Given the description of an element on the screen output the (x, y) to click on. 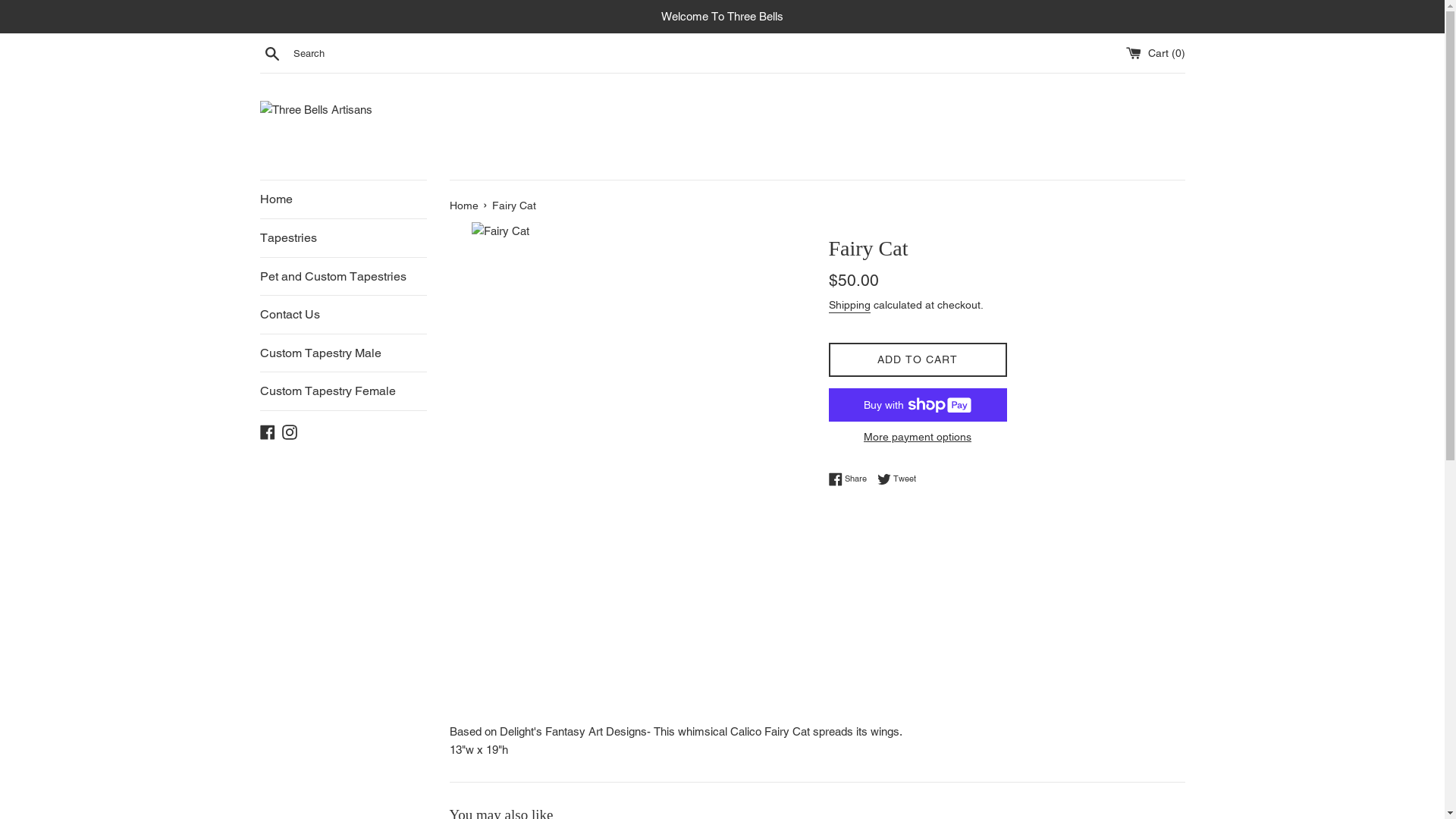
ADD TO CART Element type: text (917, 359)
Contact Us Element type: text (342, 314)
Tapestries Element type: text (342, 238)
Shipping Element type: text (848, 305)
Facebook Element type: text (266, 430)
Share
Share on Facebook Element type: text (850, 479)
Search Element type: text (271, 52)
Cart (0) Element type: text (1154, 53)
Home Element type: text (342, 199)
Pet and Custom Tapestries Element type: text (342, 276)
Custom Tapestry Male Element type: text (342, 353)
Home Element type: text (464, 205)
Custom Tapestry Female Element type: text (342, 391)
Instagram Element type: text (289, 430)
Tweet
Tweet on Twitter Element type: text (895, 479)
More payment options Element type: text (917, 436)
